Given the description of an element on the screen output the (x, y) to click on. 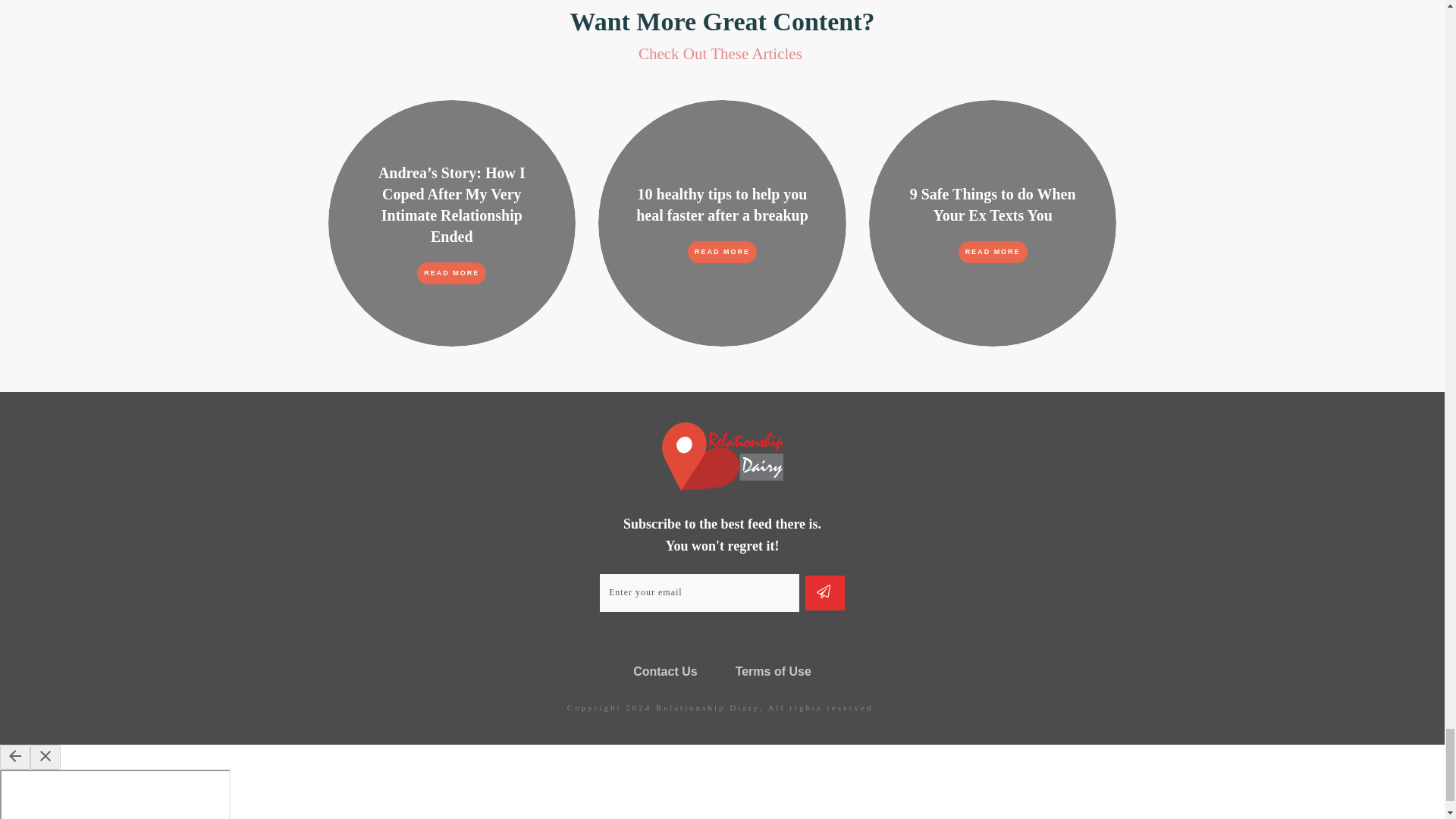
Contact Us (665, 671)
9 Safe Things to do When Your Ex Texts You (992, 204)
READ MORE (722, 251)
9 Safe Things to do When Your Ex Texts You (992, 204)
READ MORE (992, 251)
10 healthy tips to help you heal faster after a breakup (722, 204)
10 healthy tips to help you heal faster after a breakup (722, 204)
READ MORE (451, 273)
